Given the description of an element on the screen output the (x, y) to click on. 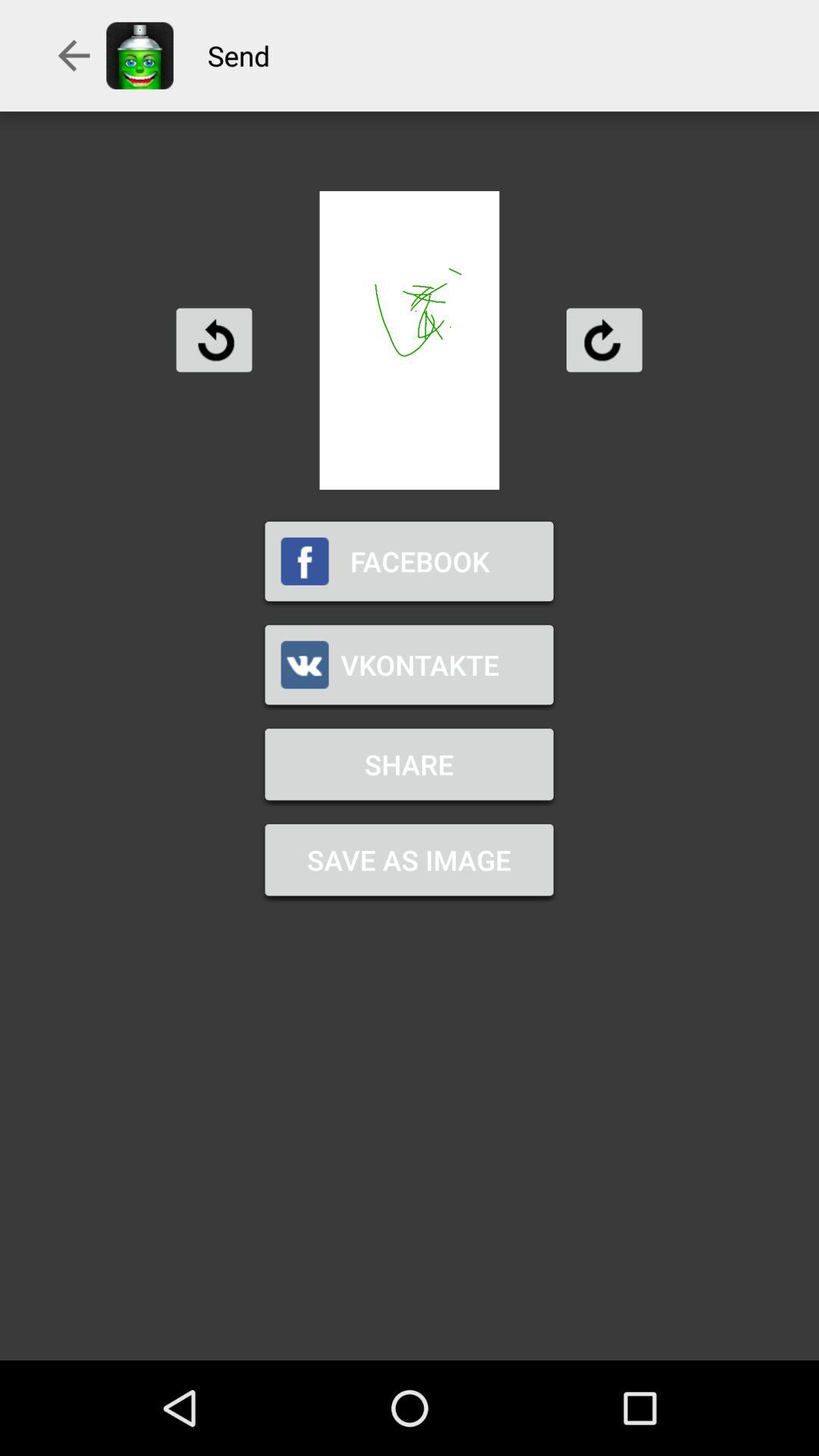
open icon above the facebook item (213, 339)
